Given the description of an element on the screen output the (x, y) to click on. 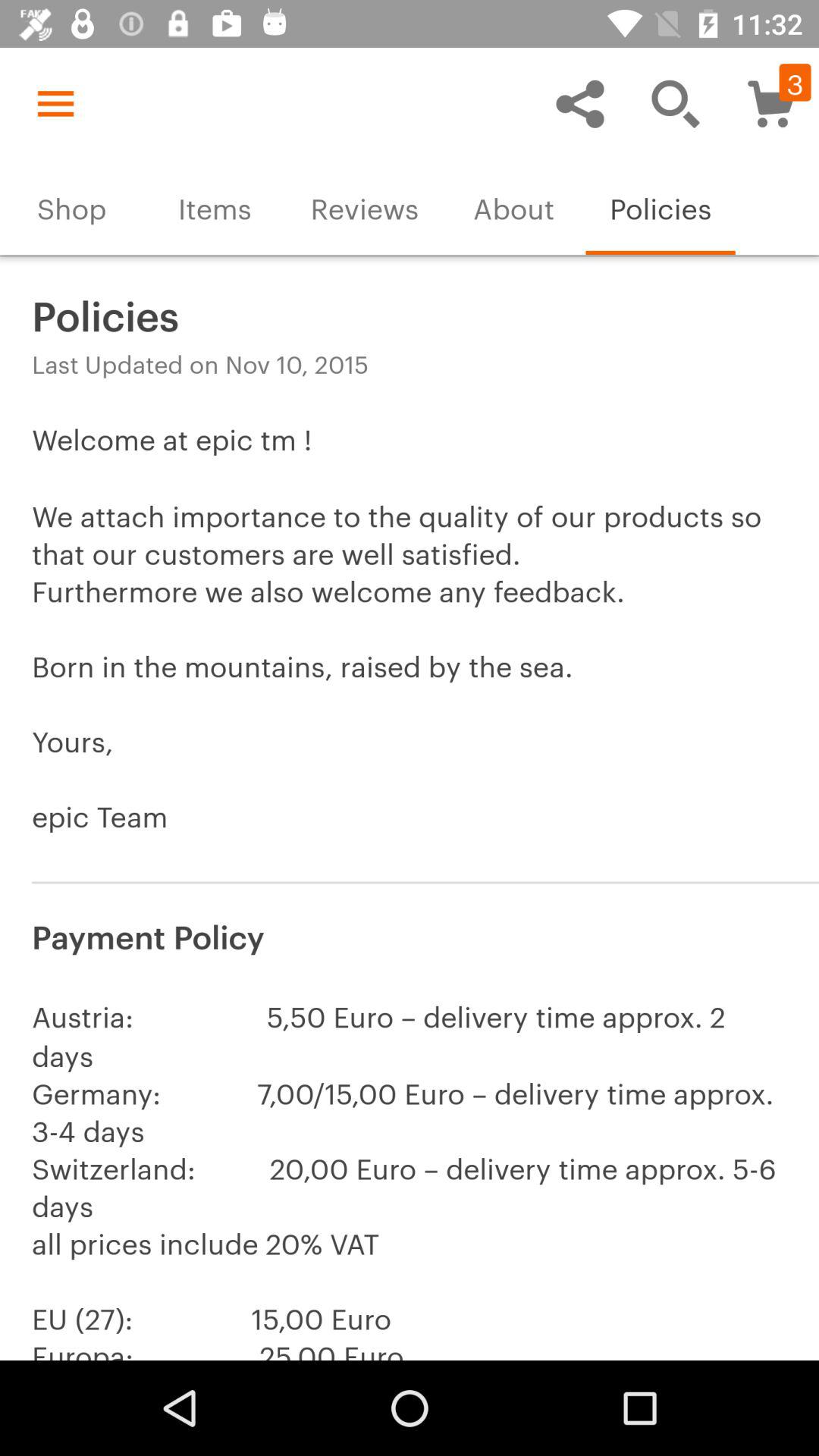
turn on welcome at epic (409, 646)
